Given the description of an element on the screen output the (x, y) to click on. 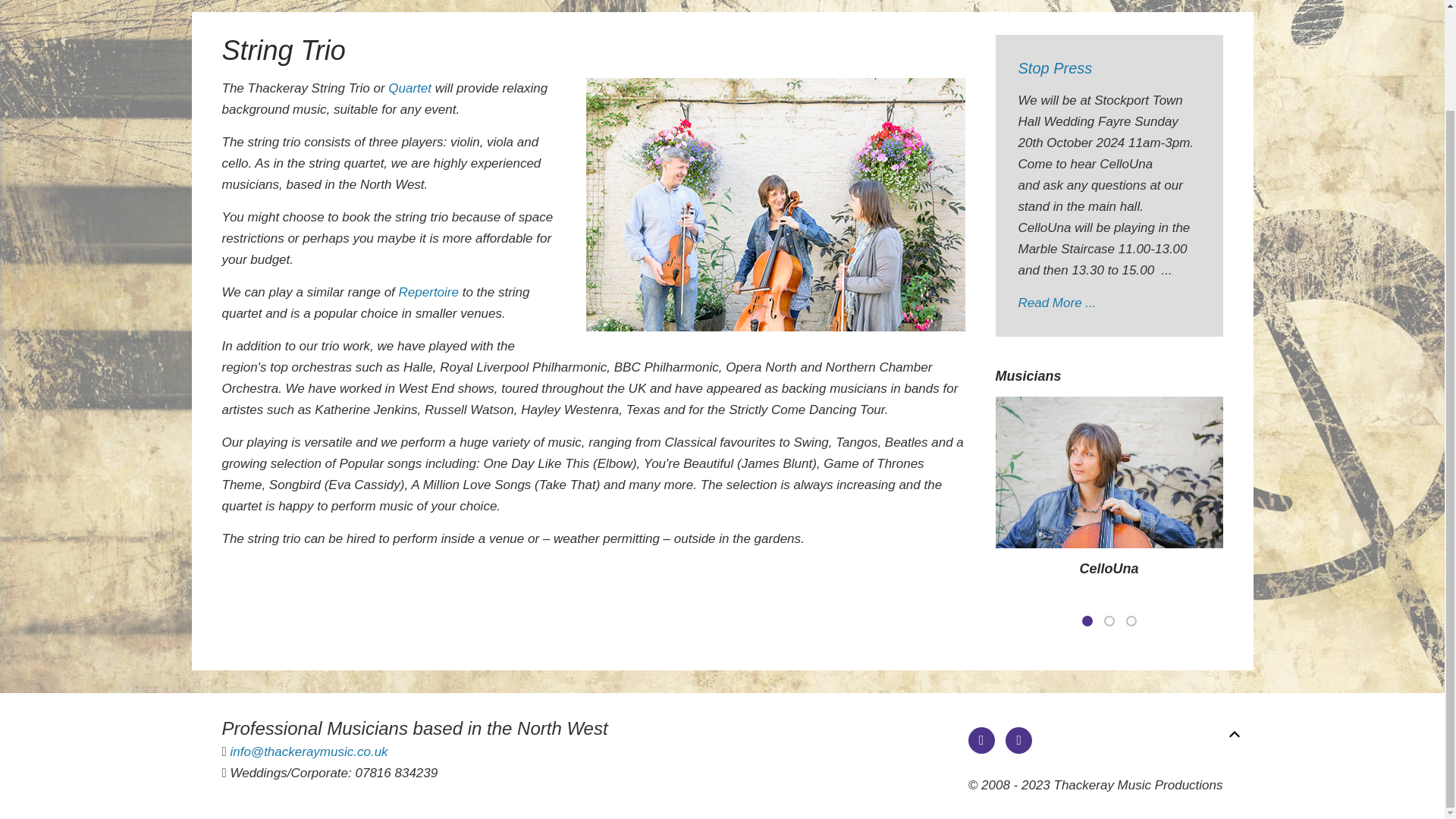
Repertoire (428, 292)
Read More ... (1056, 302)
Stop Press (1054, 67)
Quartet (409, 88)
CelloUna (1108, 568)
